Given the description of an element on the screen output the (x, y) to click on. 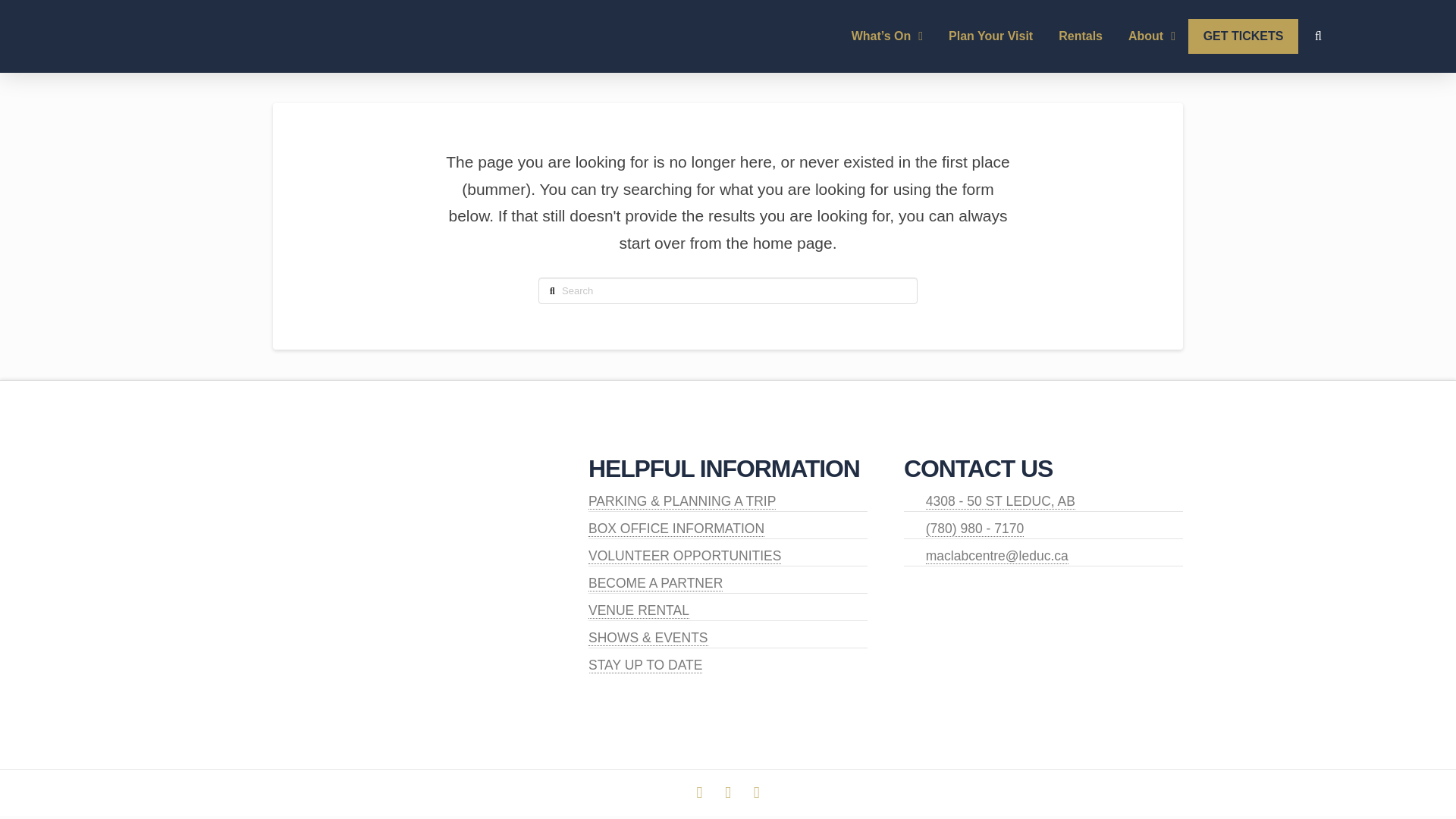
4308 - 50 ST LEDUC, AB (1000, 501)
VOLUNTEER OPPORTUNITIES (684, 555)
About (1151, 36)
Plan Your Visit (990, 36)
GET TICKETS (1243, 36)
STAY UP TO DATE (644, 665)
BOX OFFICE INFORMATION (676, 528)
BECOME A PARTNER (655, 583)
VENUE RENTAL (638, 610)
Rentals (1080, 36)
